Given the description of an element on the screen output the (x, y) to click on. 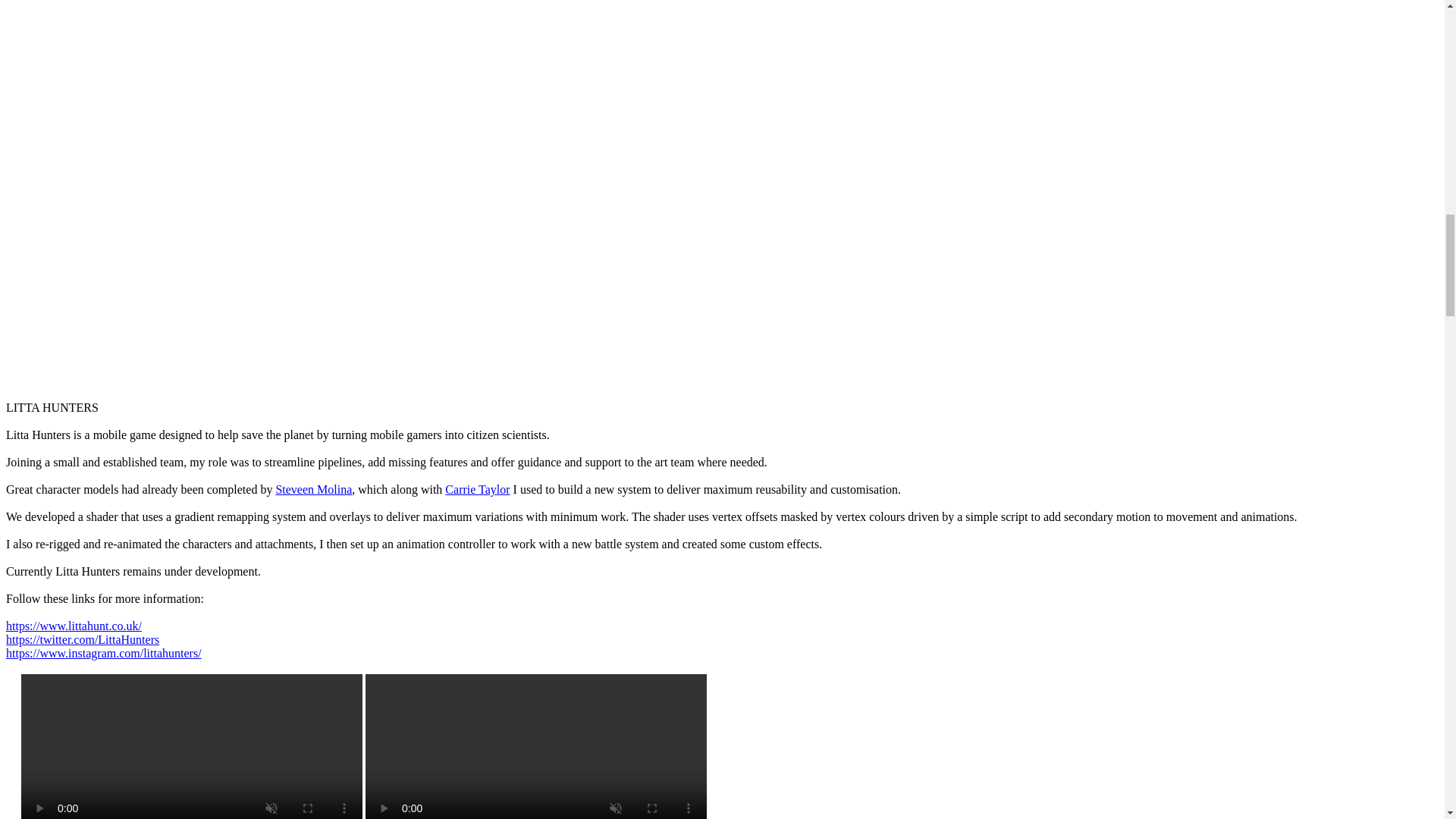
Steveen Molina (313, 489)
Carrie Taylor (477, 489)
